Given the description of an element on the screen output the (x, y) to click on. 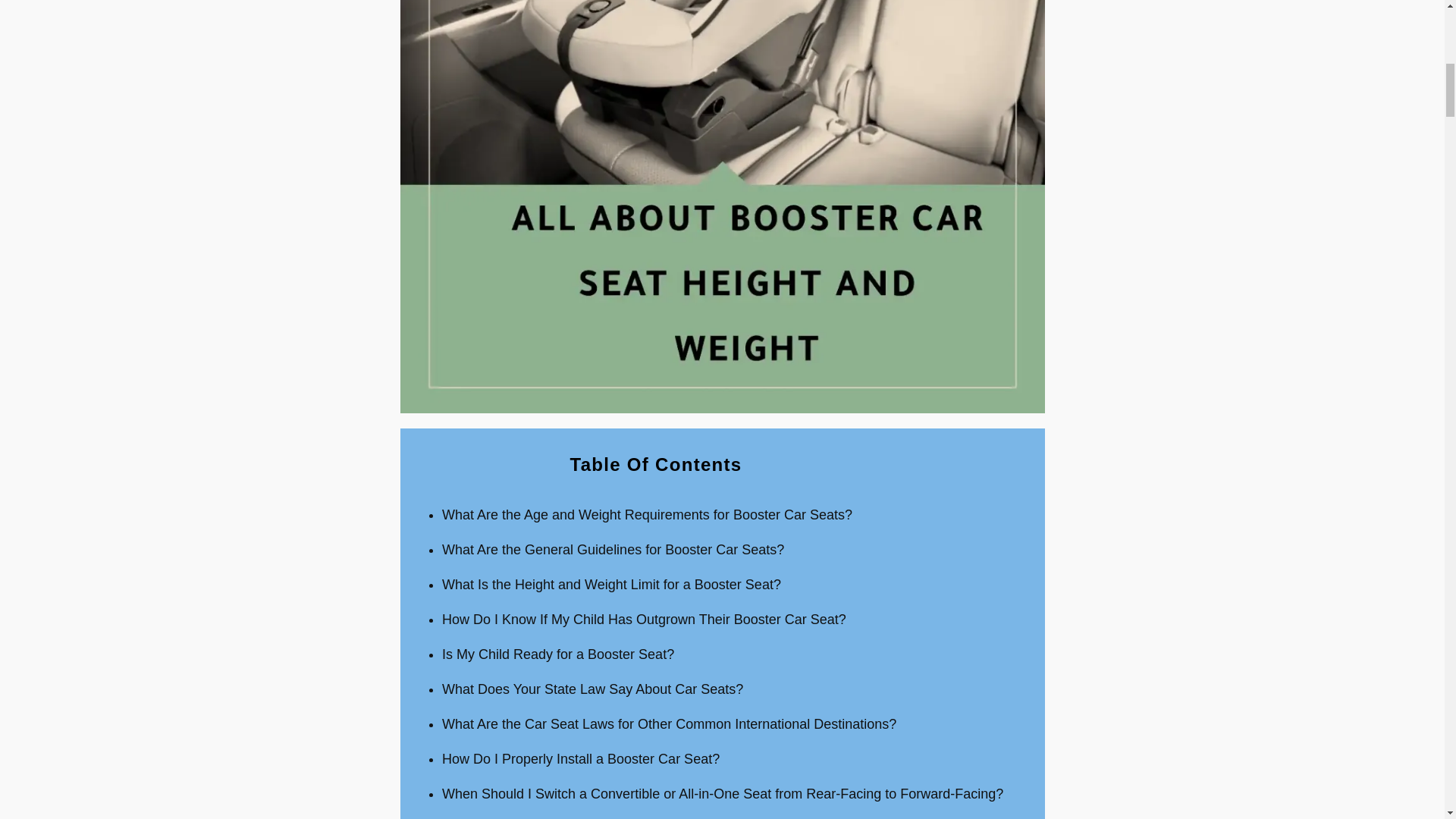
What Does Your State Law Say About Car Seats? (592, 688)
Is My Child Ready for a Booster Seat? (558, 654)
What Is the Height and Weight Limit for a Booster Seat? (611, 584)
What Are the General Guidelines for Booster Car Seats? (613, 549)
How Do I Properly Install a Booster Car Seat? (580, 758)
